Given the description of an element on the screen output the (x, y) to click on. 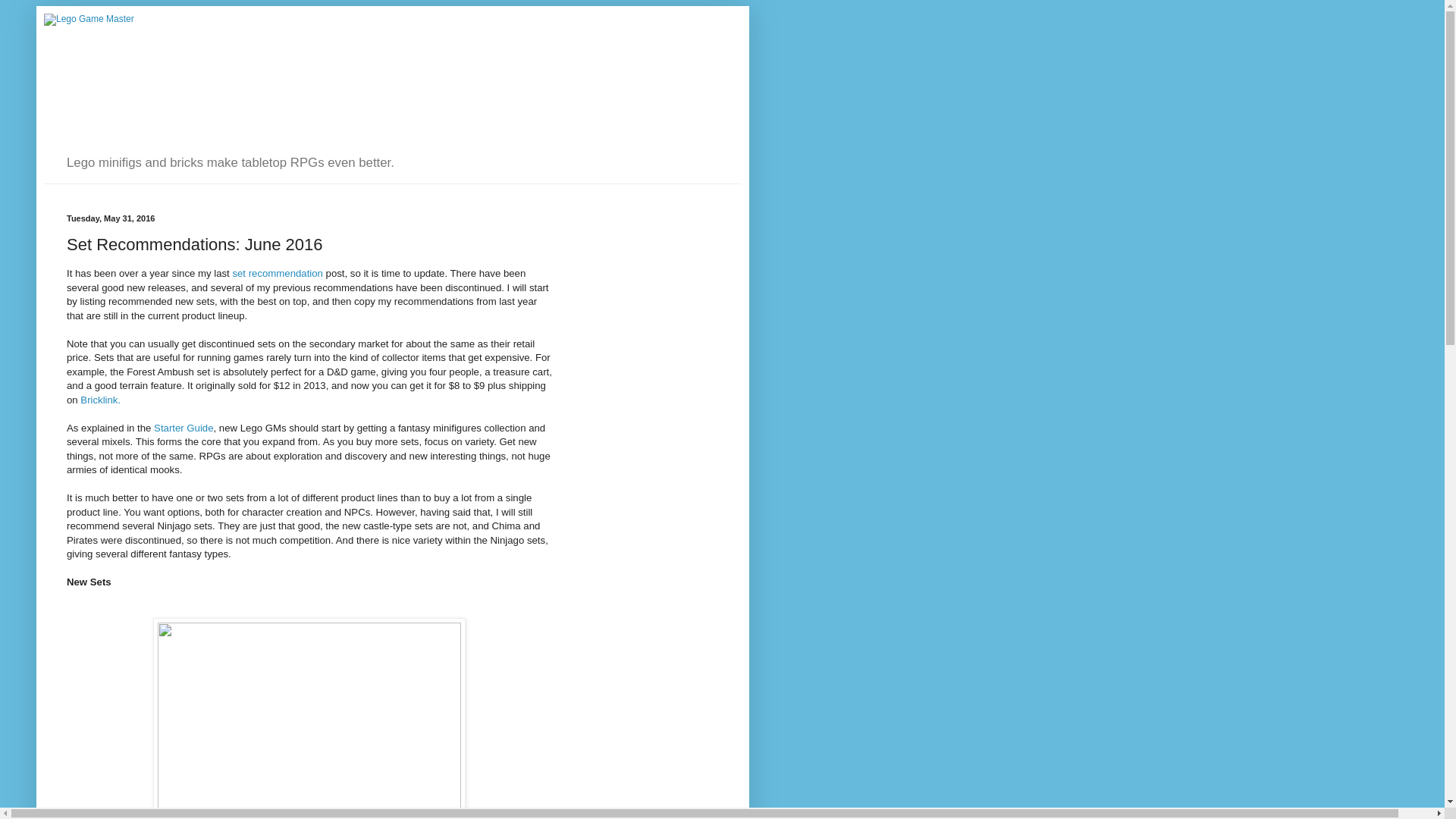
set recommendation (276, 273)
Starter Guide (183, 428)
Bricklink. (100, 399)
